Given the description of an element on the screen output the (x, y) to click on. 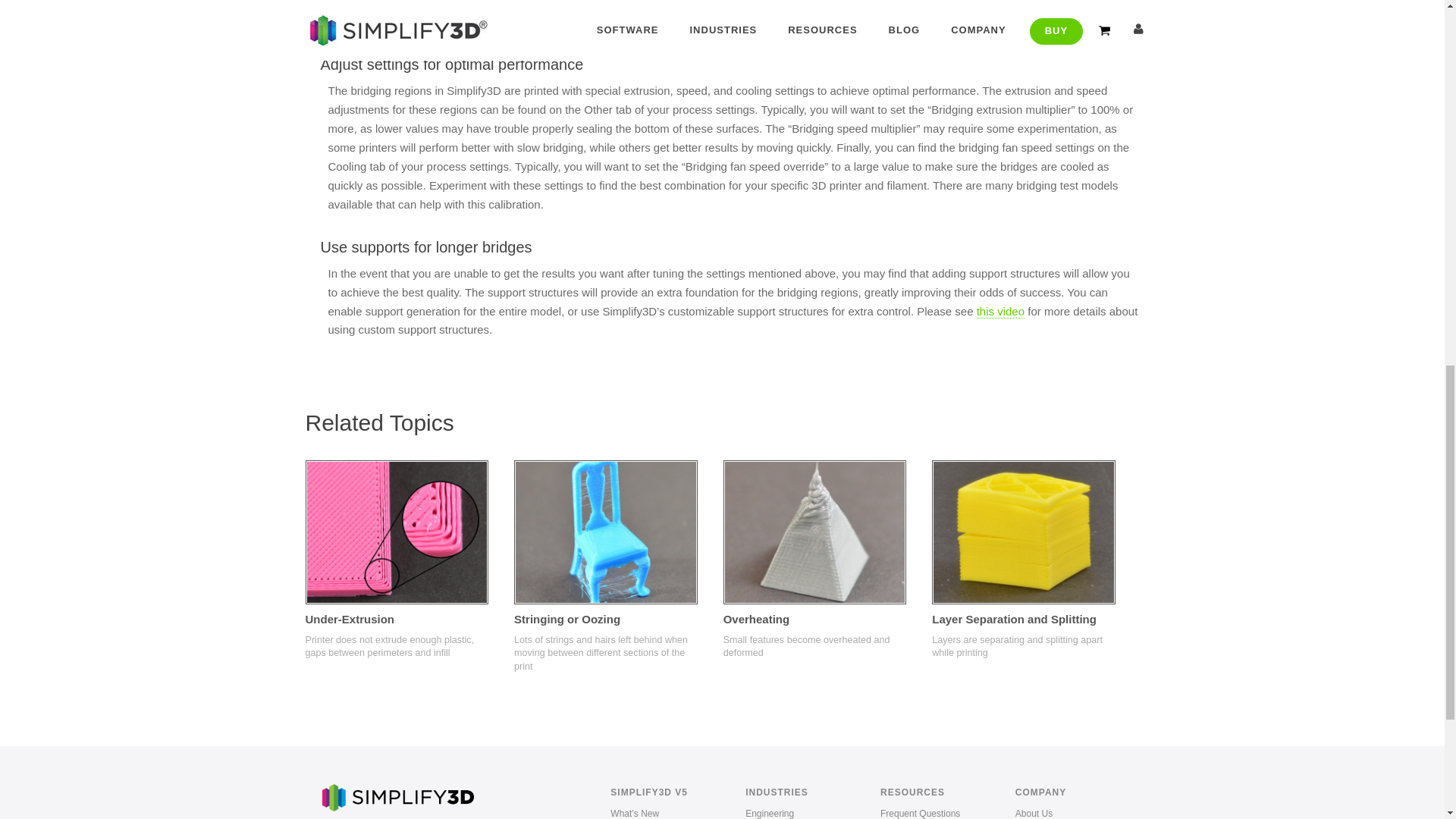
Layer Separation and Splitting (1023, 531)
Under-Extrusion (395, 531)
Overheating (815, 531)
Stringing or Oozing (605, 531)
